Given the description of an element on the screen output the (x, y) to click on. 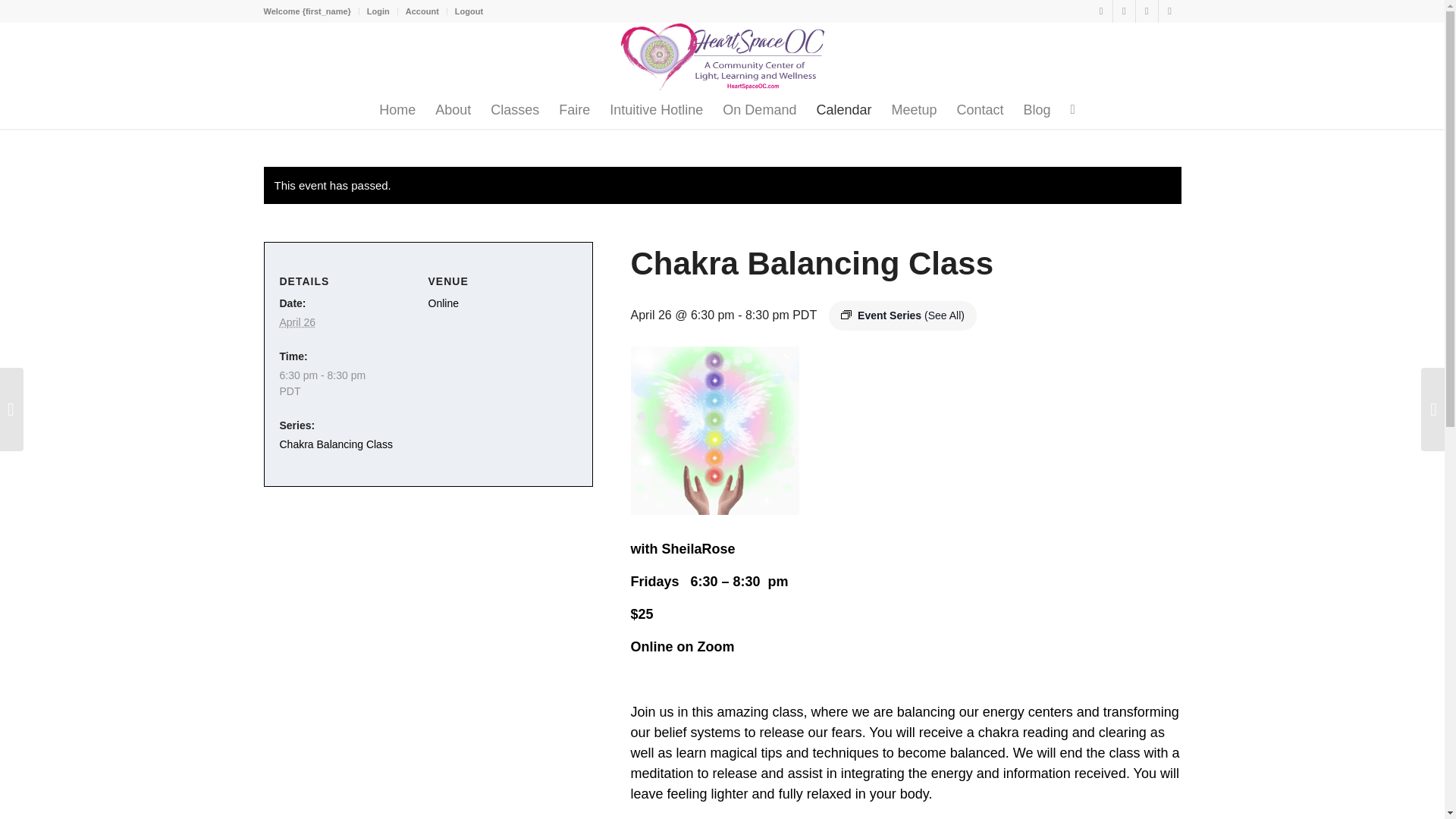
Account (422, 11)
Calendar (843, 109)
Faire (573, 109)
Meetup (913, 109)
Intuitive Hotline (656, 109)
Chakra Balancing Class (335, 444)
Home (397, 109)
Contact (980, 109)
Logout (468, 11)
Chakra Balancing Class (335, 444)
Facebook (1146, 11)
Login (378, 11)
2024-04-26 (346, 383)
Youtube (1169, 11)
Classes (514, 109)
